Given the description of an element on the screen output the (x, y) to click on. 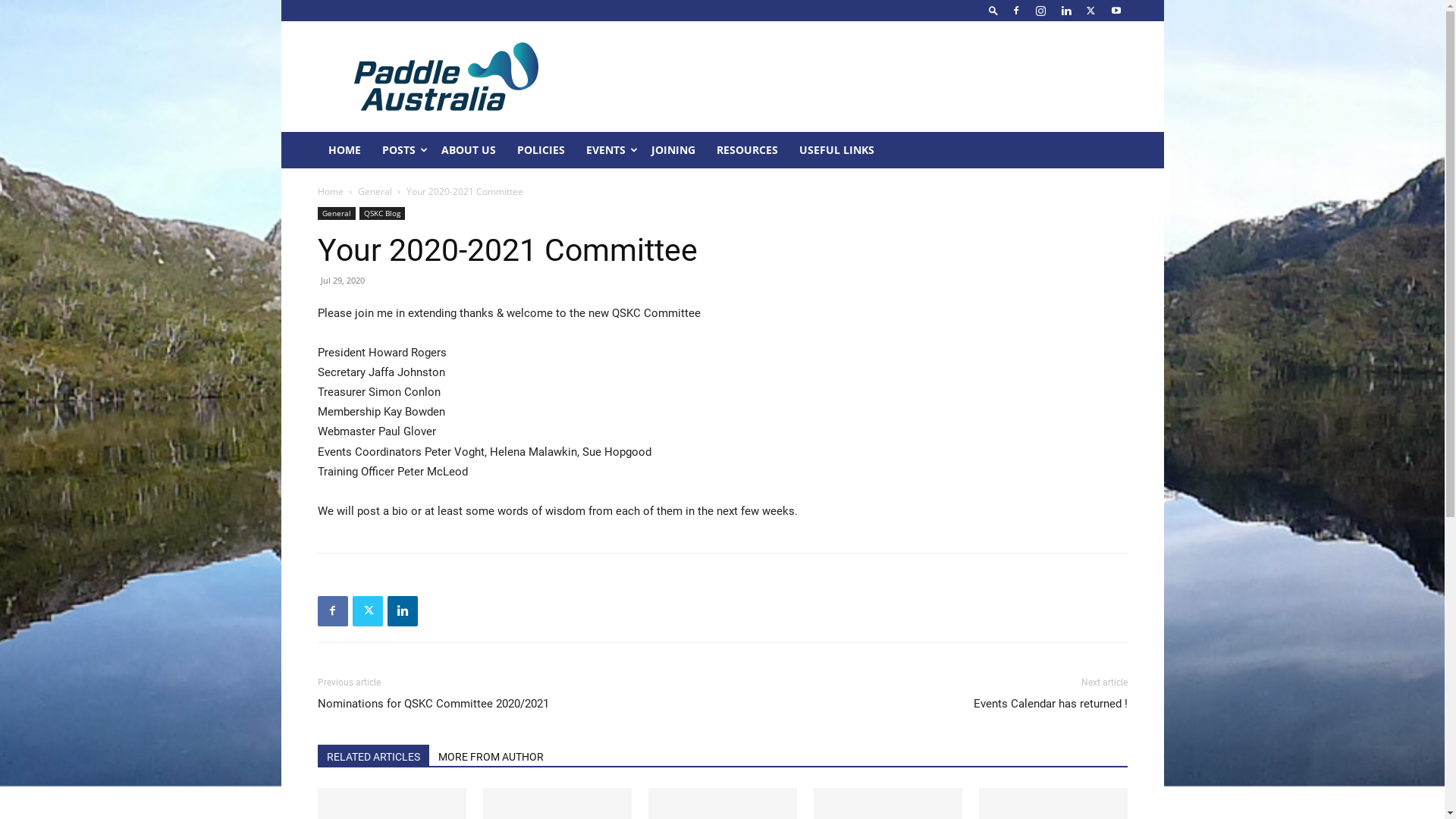
Twitter Element type: hover (1090, 10)
General Element type: text (374, 191)
General Element type: text (335, 213)
HOME Element type: text (343, 149)
POSTS Element type: text (400, 149)
bottomFacebookLike Element type: hover (430, 577)
QSKC Blog Element type: text (381, 213)
Home Element type: text (329, 191)
ABOUT US Element type: text (468, 149)
MORE FROM AUTHOR Element type: text (490, 754)
JOINING Element type: text (672, 149)
Youtube Element type: hover (1115, 10)
Facebook Element type: hover (331, 611)
Twitter Element type: hover (366, 611)
RESOURCES Element type: text (746, 149)
Instagram Element type: hover (1040, 10)
Linkedin Element type: hover (1065, 10)
EVENTS Element type: text (607, 149)
POLICIES Element type: text (540, 149)
Linkedin Element type: hover (401, 611)
Nominations for QSKC Committee 2020/2021 Element type: text (432, 704)
Search Element type: text (1085, 64)
USEFUL LINKS Element type: text (836, 149)
RELATED ARTICLES Element type: text (372, 754)
Events Calendar has returned ! Element type: text (1050, 704)
Facebook Element type: hover (1015, 10)
